Given the description of an element on the screen output the (x, y) to click on. 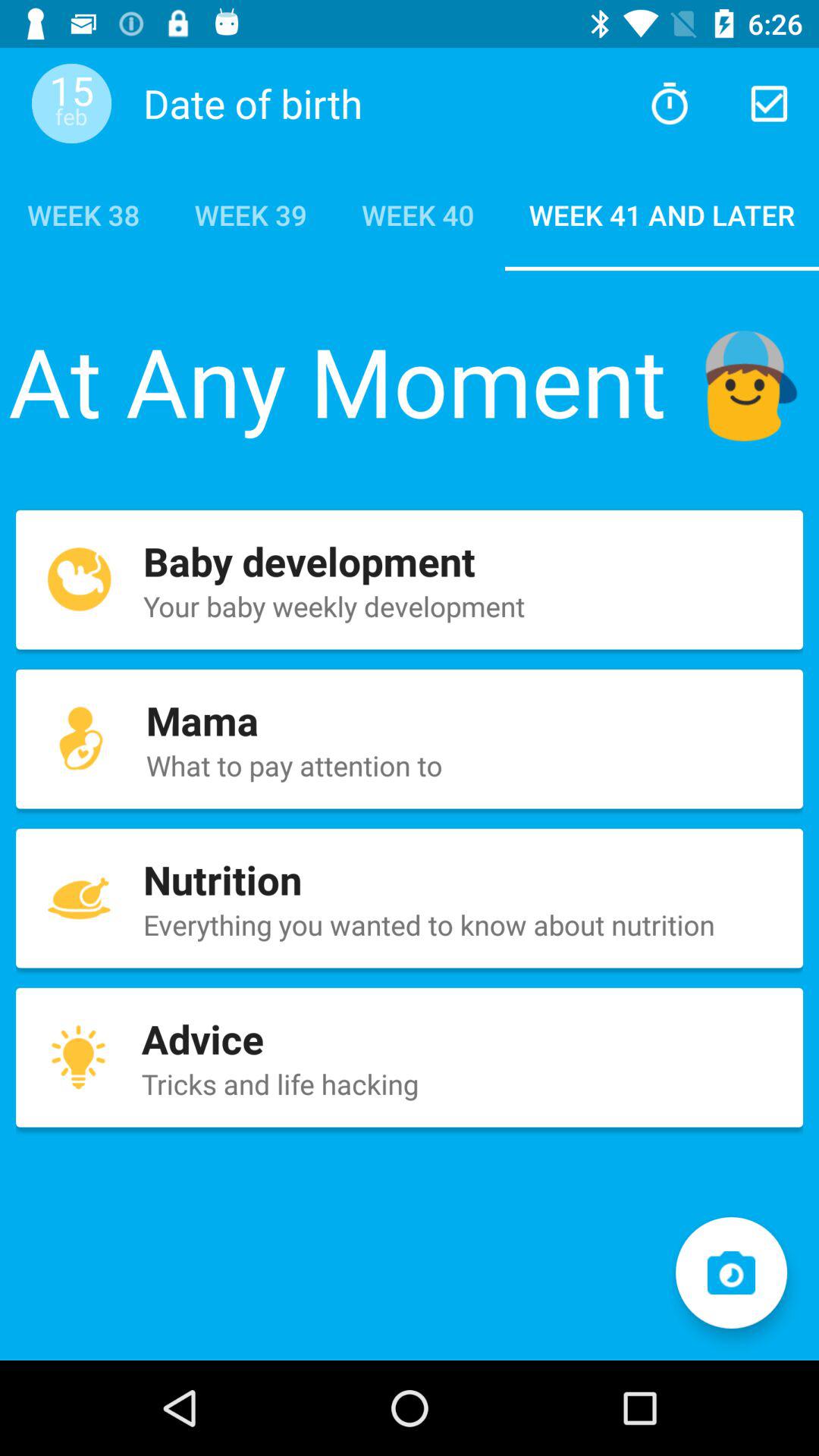
set alarm (669, 103)
